Given the description of an element on the screen output the (x, y) to click on. 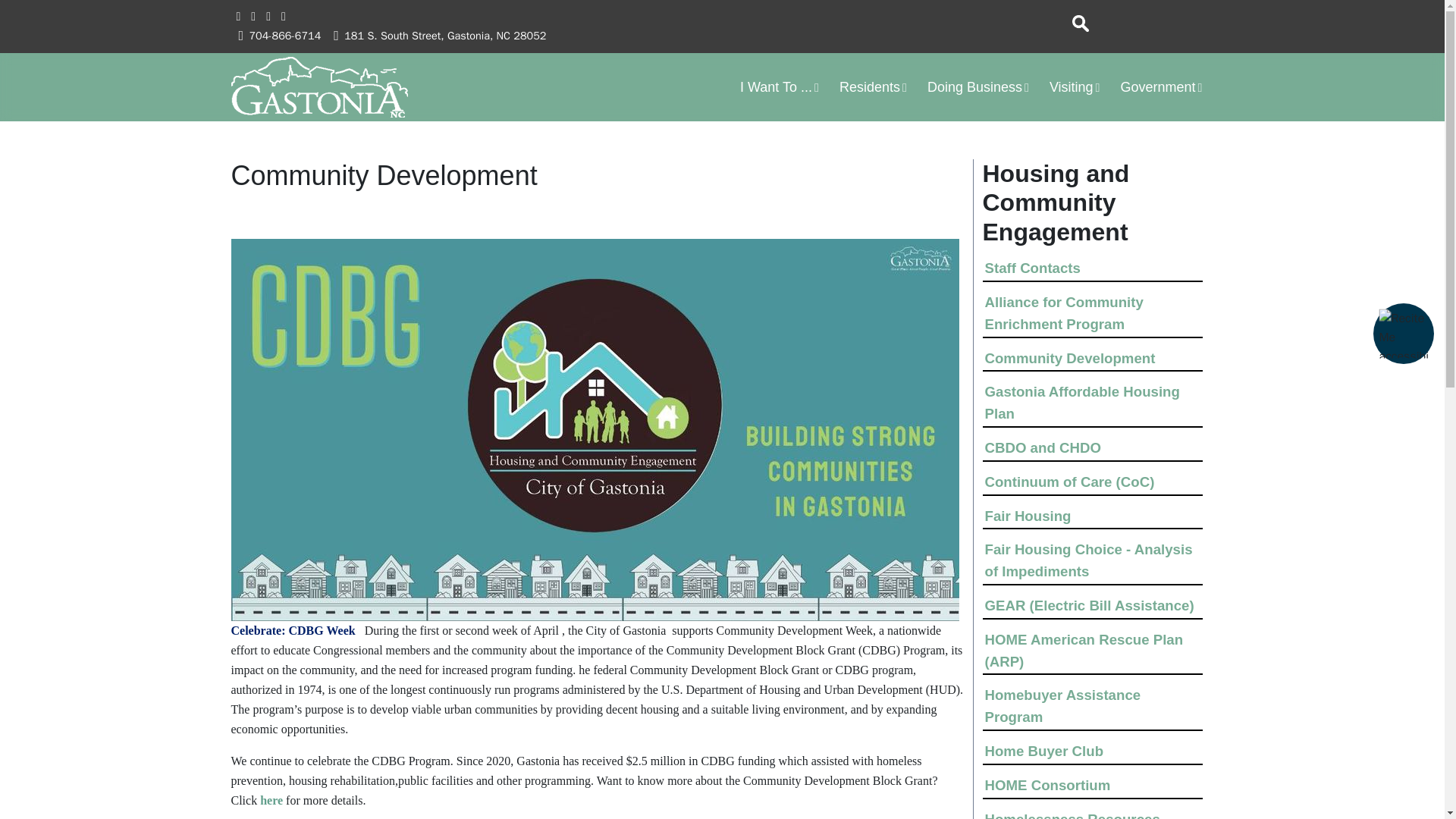
Launch Recite Me (1403, 333)
181 S. South Street, Gastonia, NC 28052 (444, 35)
Launch Recite Me (1403, 333)
704-866-6714 (284, 35)
Search (1080, 23)
I Want To ... (779, 87)
